Given the description of an element on the screen output the (x, y) to click on. 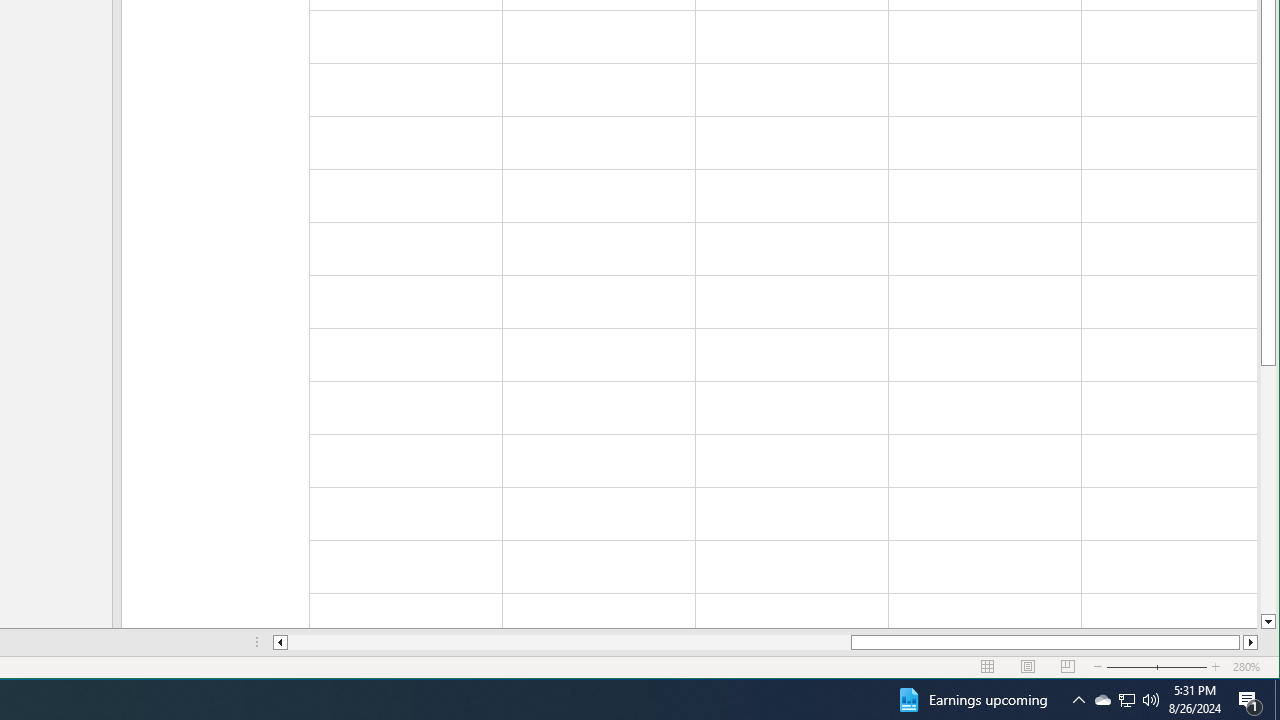
Notification Chevron (1078, 699)
Show desktop (1277, 699)
Q2790: 100% (1151, 699)
